Given the description of an element on the screen output the (x, y) to click on. 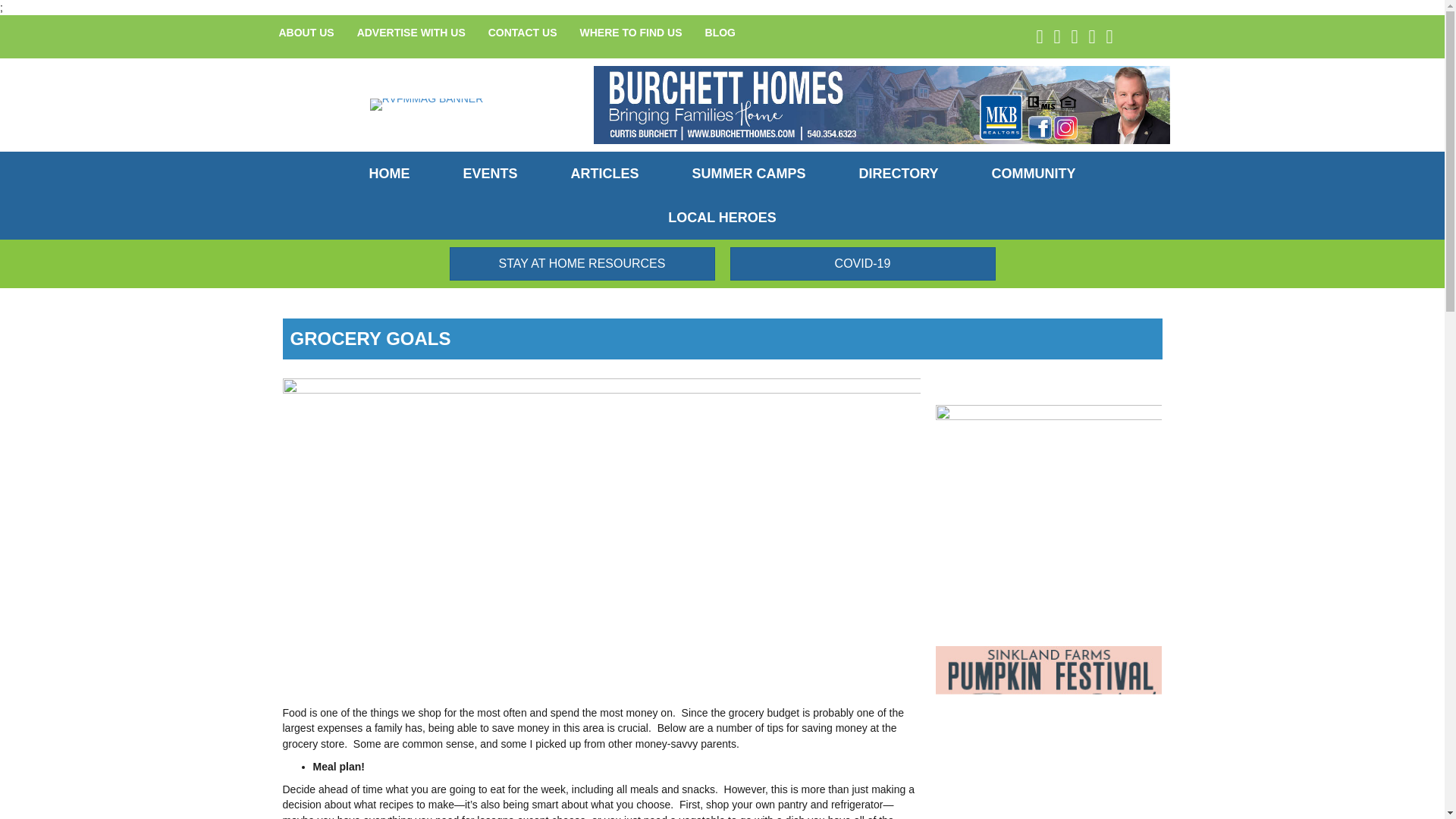
WHERE TO FIND US (630, 32)
RVFMMAG BANNER (426, 104)
DIRECTORY (898, 173)
SUMMER CAMPS (748, 173)
CONTACT US (523, 32)
HOME (388, 173)
ARTICLES (604, 173)
EVENTS (489, 173)
BLOG (720, 32)
ADVERTISE WITH US (411, 32)
